Given the description of an element on the screen output the (x, y) to click on. 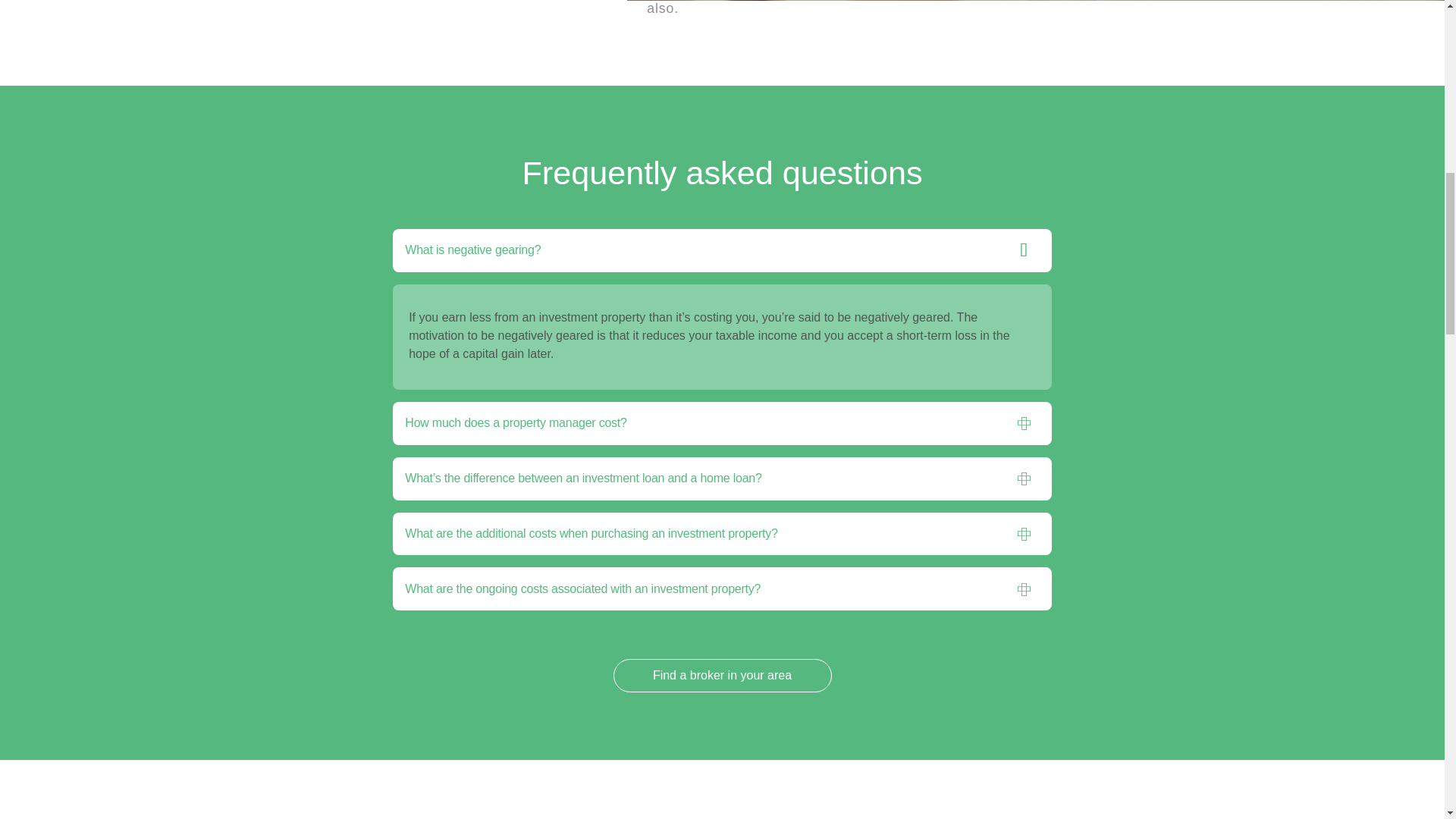
What is negative gearing? (703, 463)
How much does a property manager cost? (703, 636)
